Given the description of an element on the screen output the (x, y) to click on. 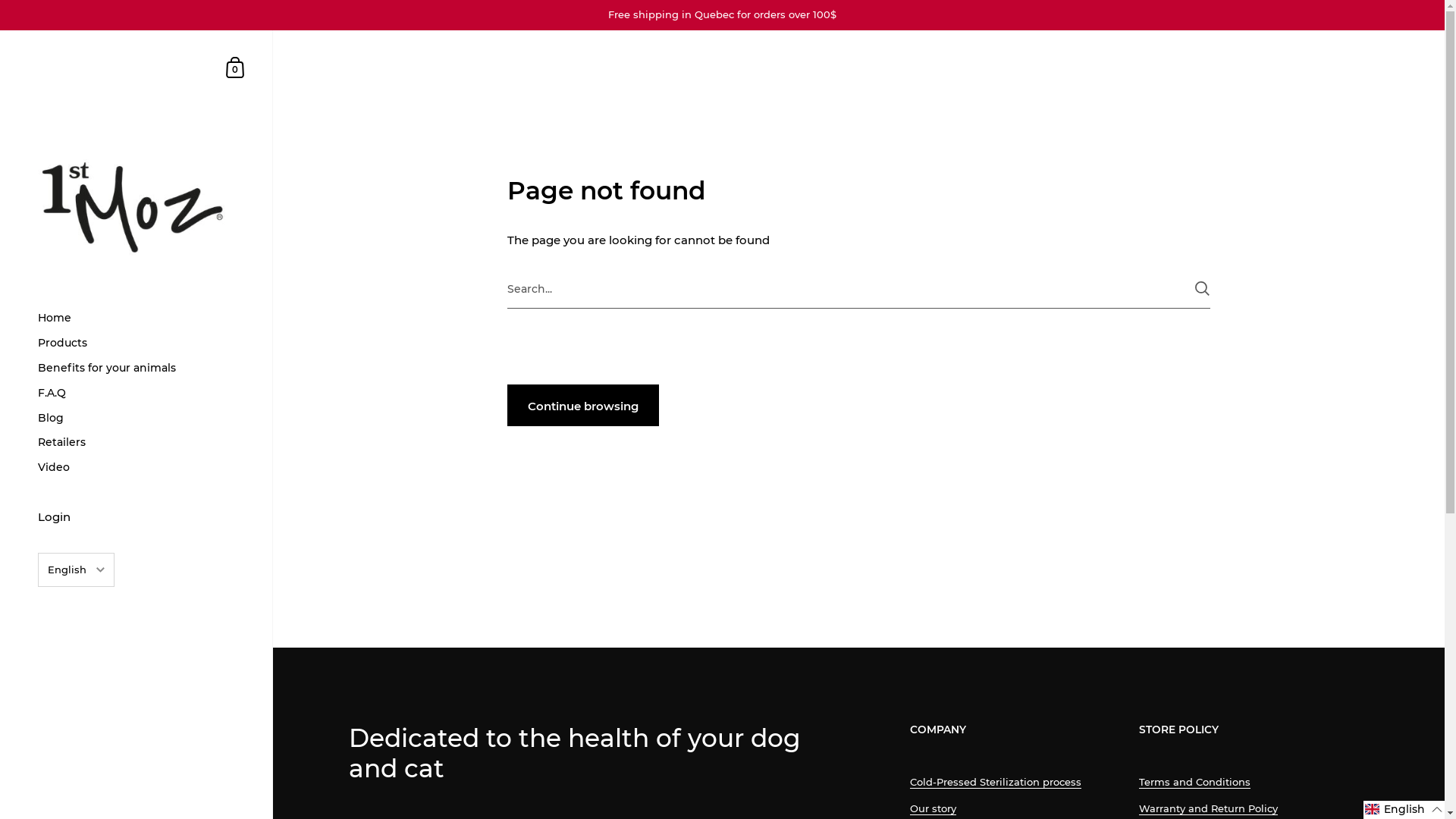
Benefits for your animals Element type: text (136, 367)
Warranty and Return Policy Element type: text (1208, 808)
Terms and Conditions Element type: text (1194, 781)
Products Element type: text (136, 342)
Continue browsing Element type: text (582, 405)
Retailers Element type: text (136, 442)
F.A.Q Element type: text (136, 392)
fr Element type: text (75, 628)
English Element type: text (75, 600)
Cold-Pressed Sterilization process Element type: text (995, 781)
Our story Element type: text (933, 808)
Home Element type: text (136, 317)
Free shipping in Quebec for orders over 100$ Element type: text (722, 15)
0 Element type: text (235, 66)
Blog Element type: text (136, 417)
Login Element type: text (136, 518)
Video Element type: text (136, 467)
